Given the description of an element on the screen output the (x, y) to click on. 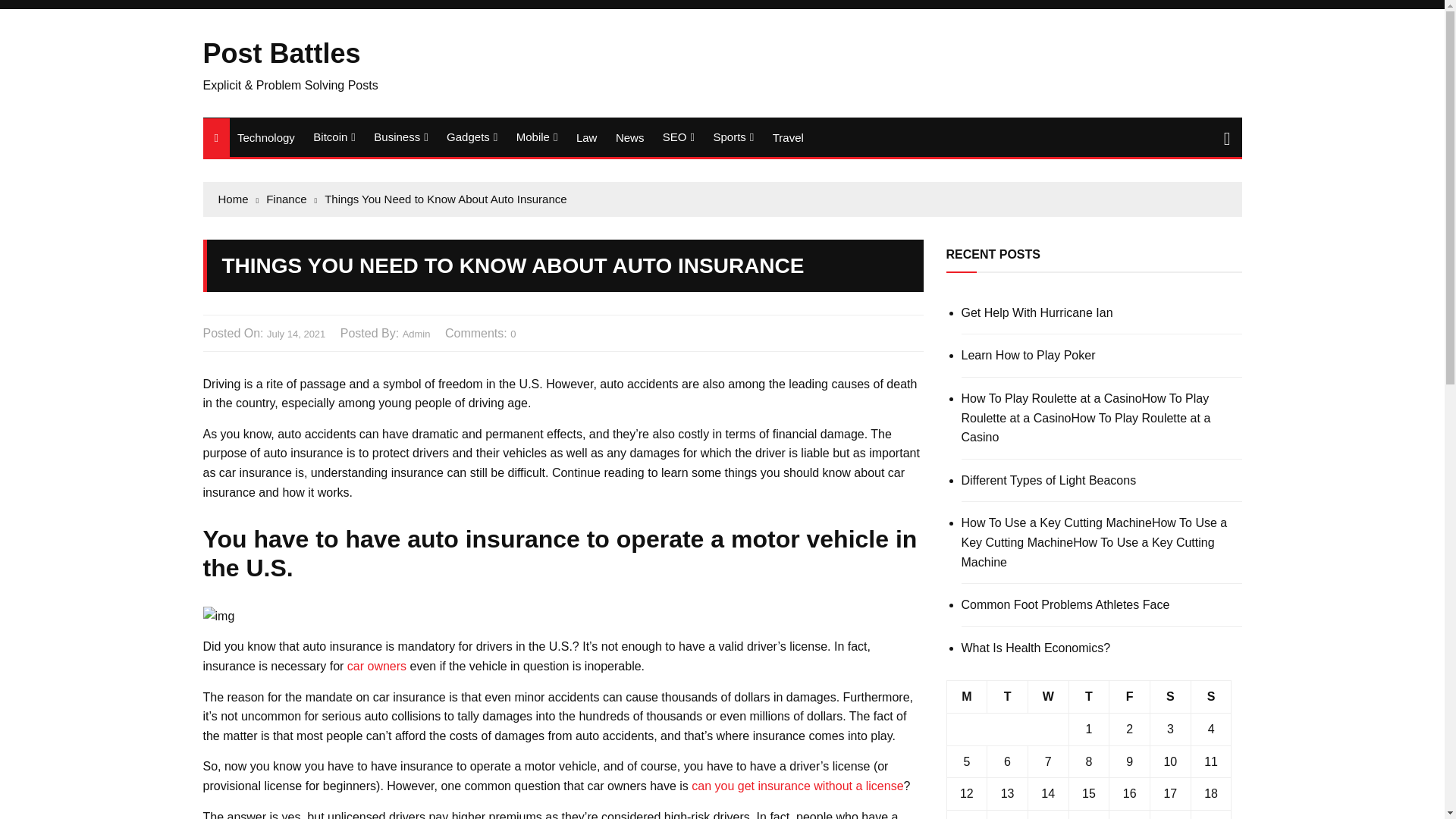
Technology (266, 137)
Post Battles (282, 52)
SEO (678, 137)
Saturday (1170, 696)
Mobile (537, 137)
Gadgets (472, 137)
Wednesday (1047, 696)
Sports (732, 137)
Friday (1129, 696)
Thursday (1088, 696)
Business (400, 137)
Tuesday (1007, 696)
Law (587, 137)
Sunday (1211, 696)
Bitcoin (333, 137)
